Given the description of an element on the screen output the (x, y) to click on. 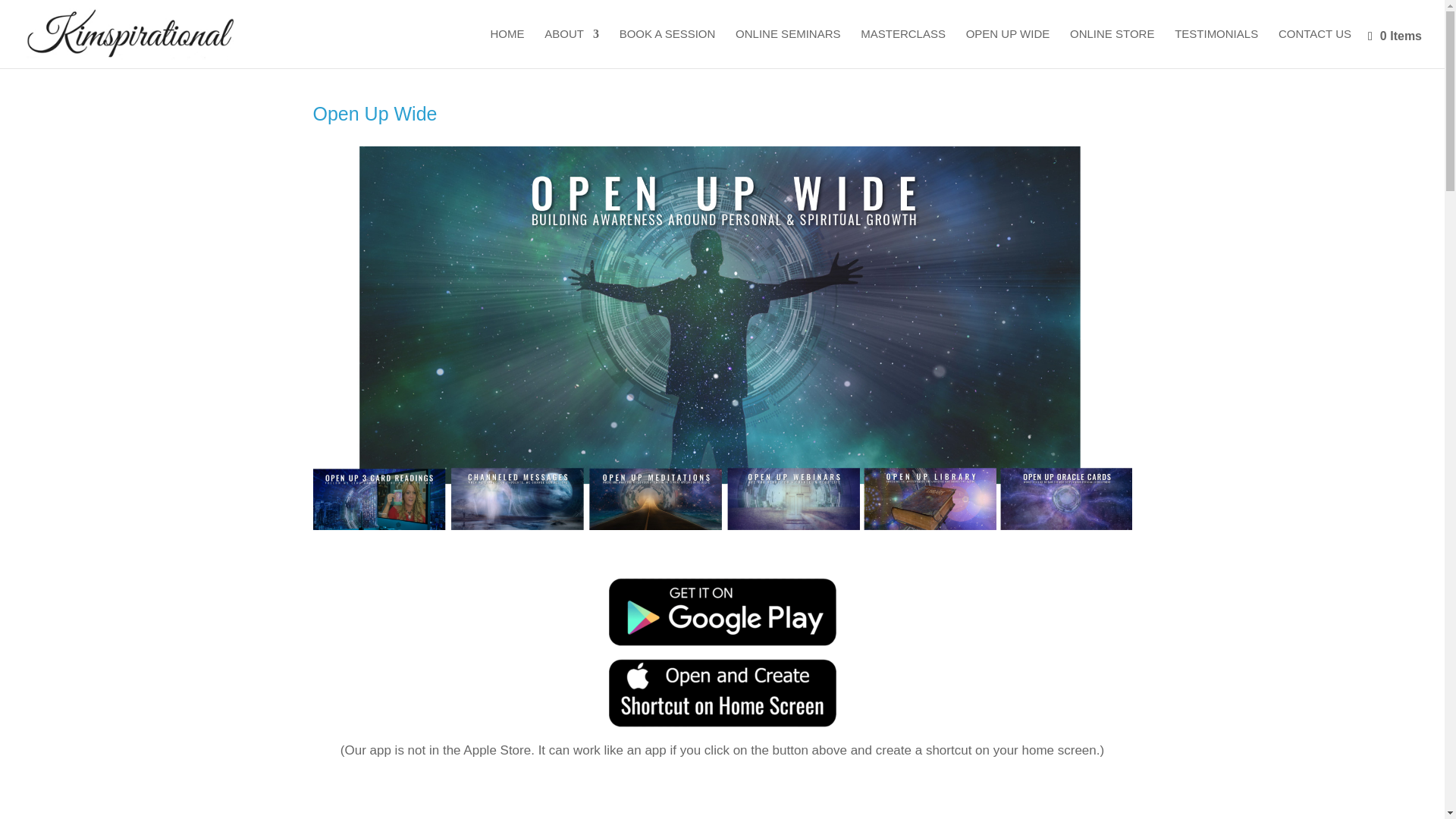
OPEN UP WIDE (1007, 47)
0 Items (1395, 36)
ONLINE STORE (1112, 47)
BOOK A SESSION (668, 47)
TESTIMONIALS (1215, 47)
MASTERCLASS (902, 47)
ABOUT (571, 47)
CONTACT US (1314, 47)
ONLINE SEMINARS (787, 47)
